Given the description of an element on the screen output the (x, y) to click on. 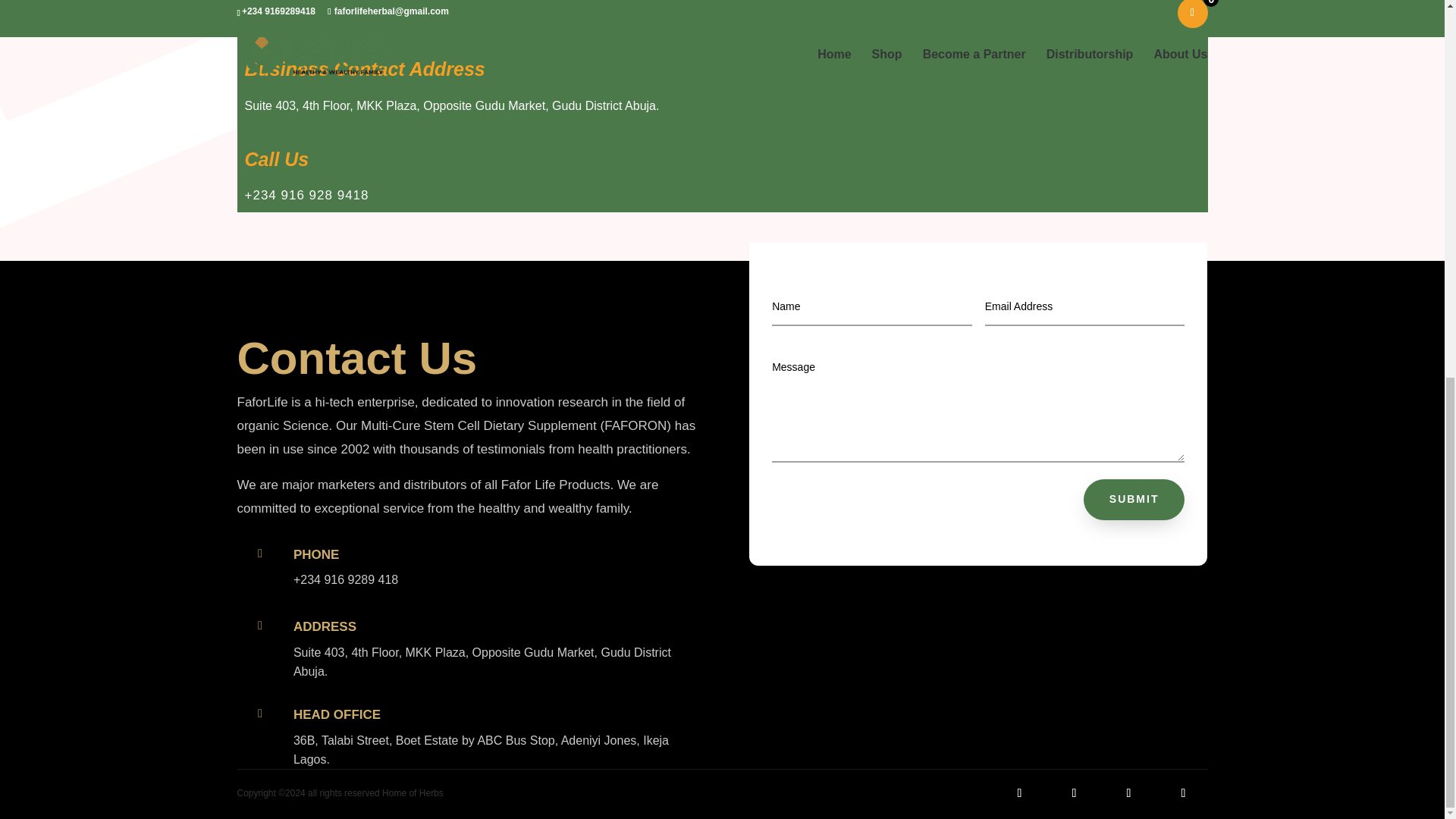
Follow on Youtube (1182, 793)
Follow on Facebook (1018, 793)
SUBMIT (1134, 499)
Follow on Instagram (1128, 793)
Follow on X (1073, 793)
